Given the description of an element on the screen output the (x, y) to click on. 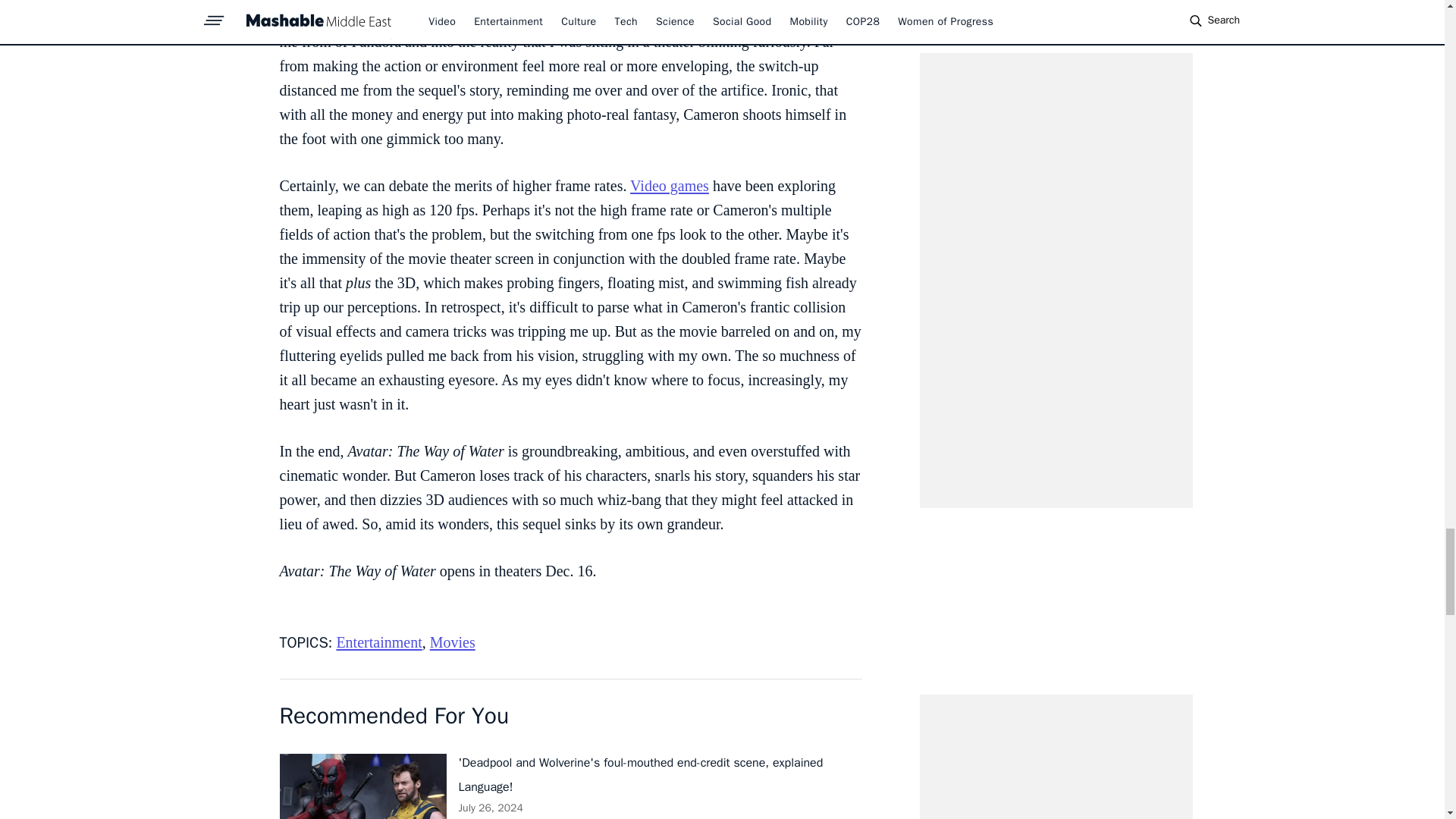
Movies (452, 641)
Entertainment (379, 641)
Video games (669, 185)
